Given the description of an element on the screen output the (x, y) to click on. 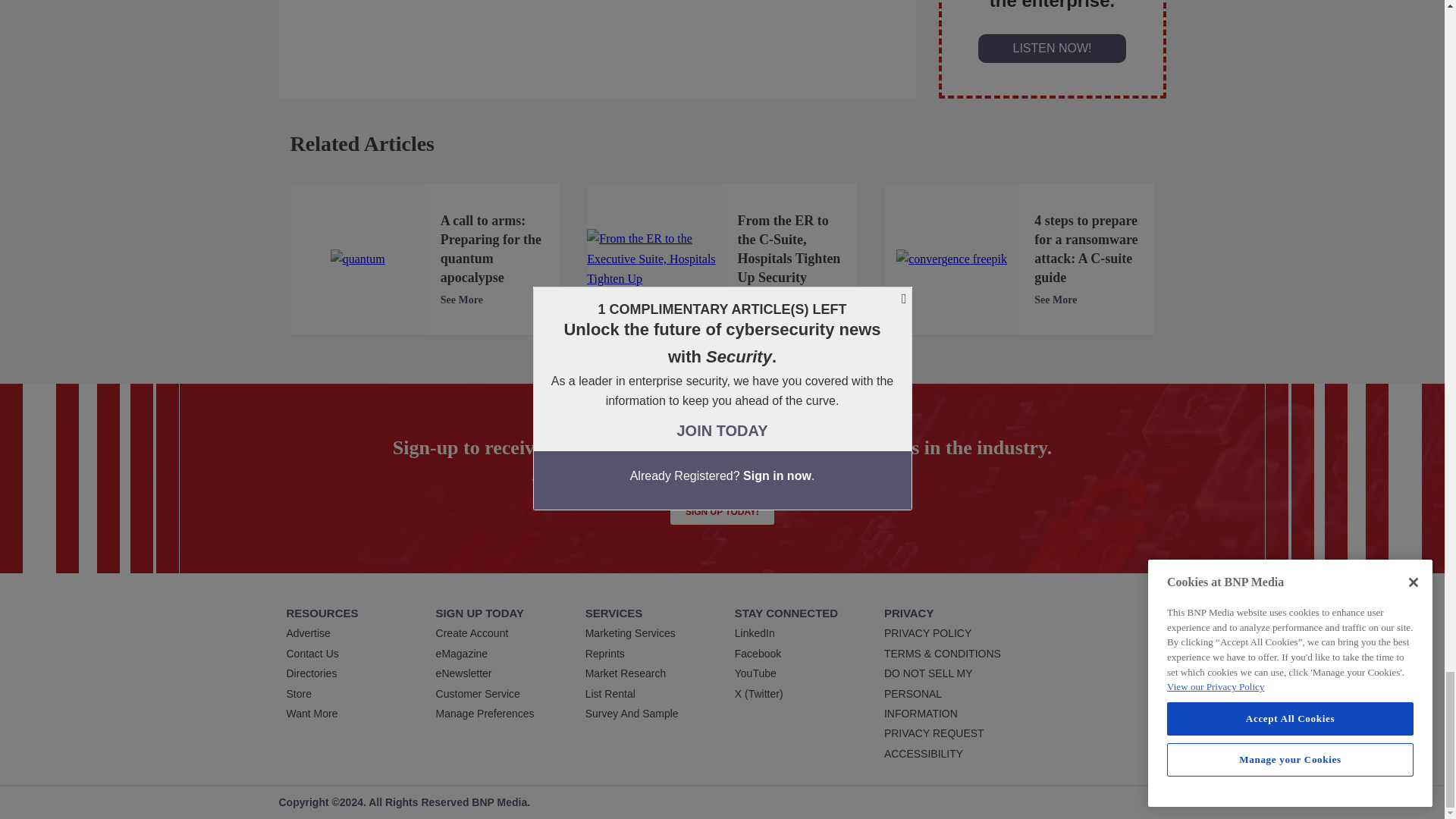
From the ER to the Executive Suite, Hospitals Tighten Up (654, 259)
cyber-security-freepik.jpg (951, 259)
quantum (357, 259)
